Given the description of an element on the screen output the (x, y) to click on. 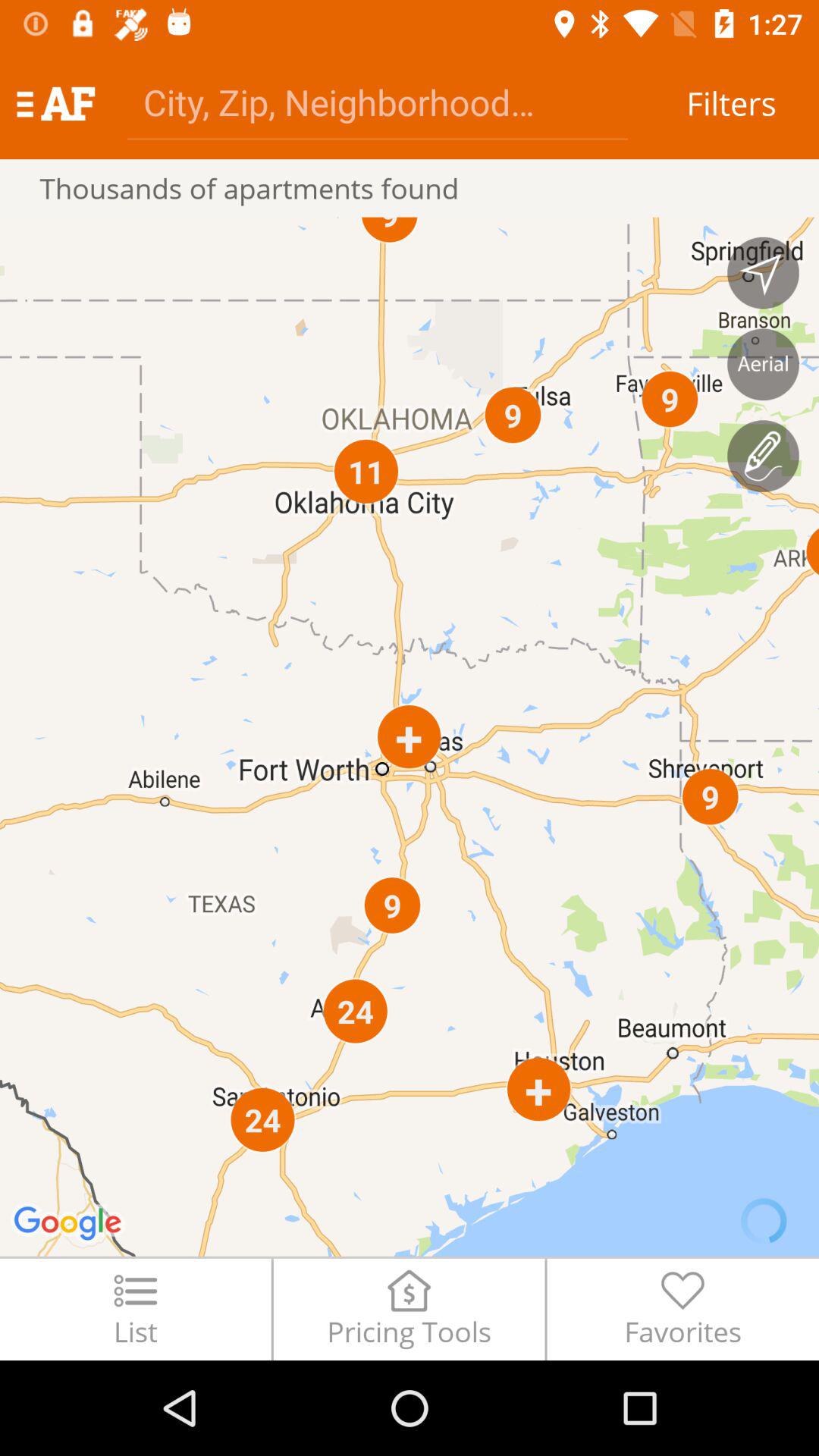
location (763, 272)
